Given the description of an element on the screen output the (x, y) to click on. 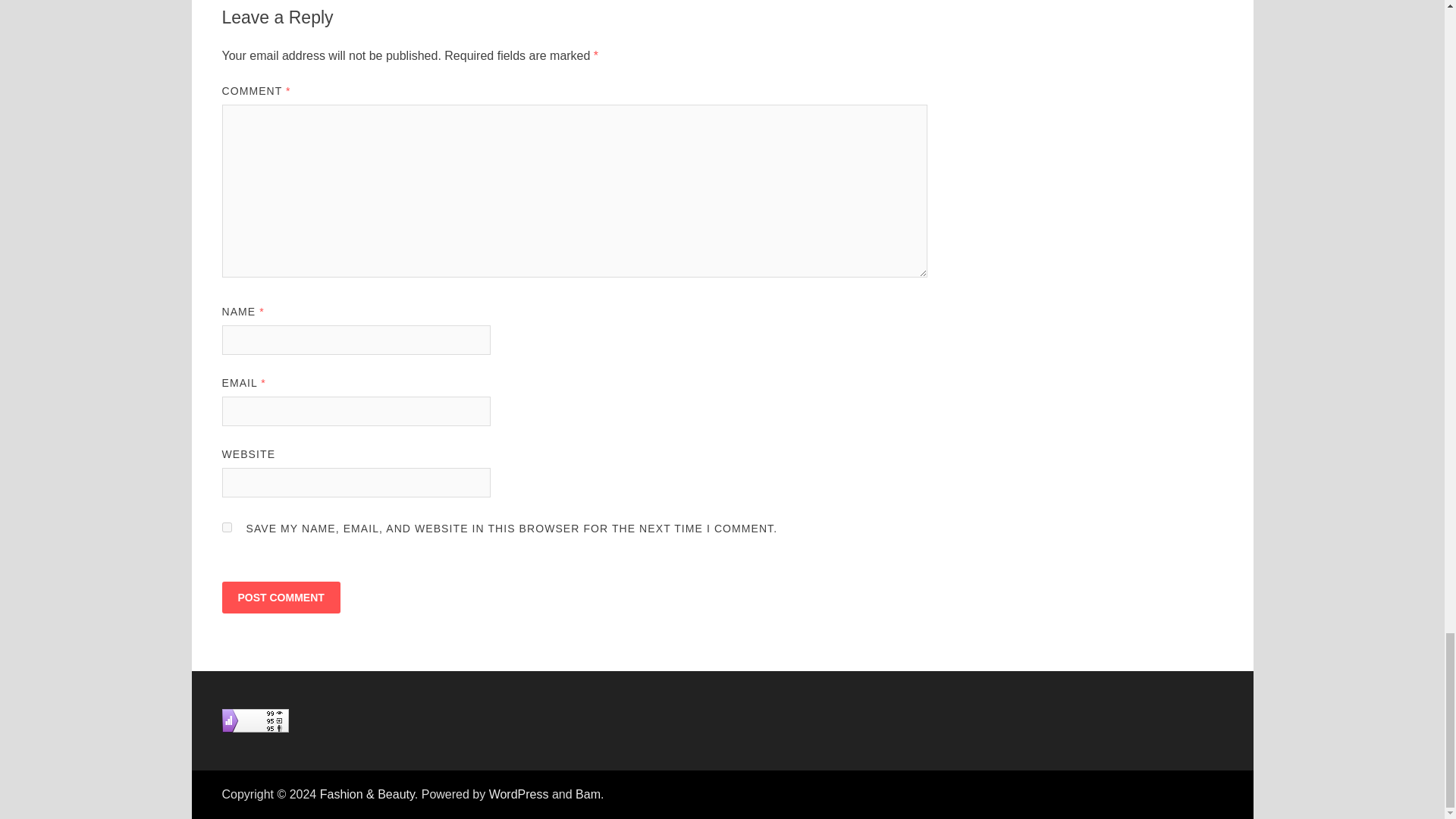
Bam (587, 793)
WordPress (518, 793)
Post Comment (280, 597)
Post Comment (280, 597)
yes (226, 527)
